Given the description of an element on the screen output the (x, y) to click on. 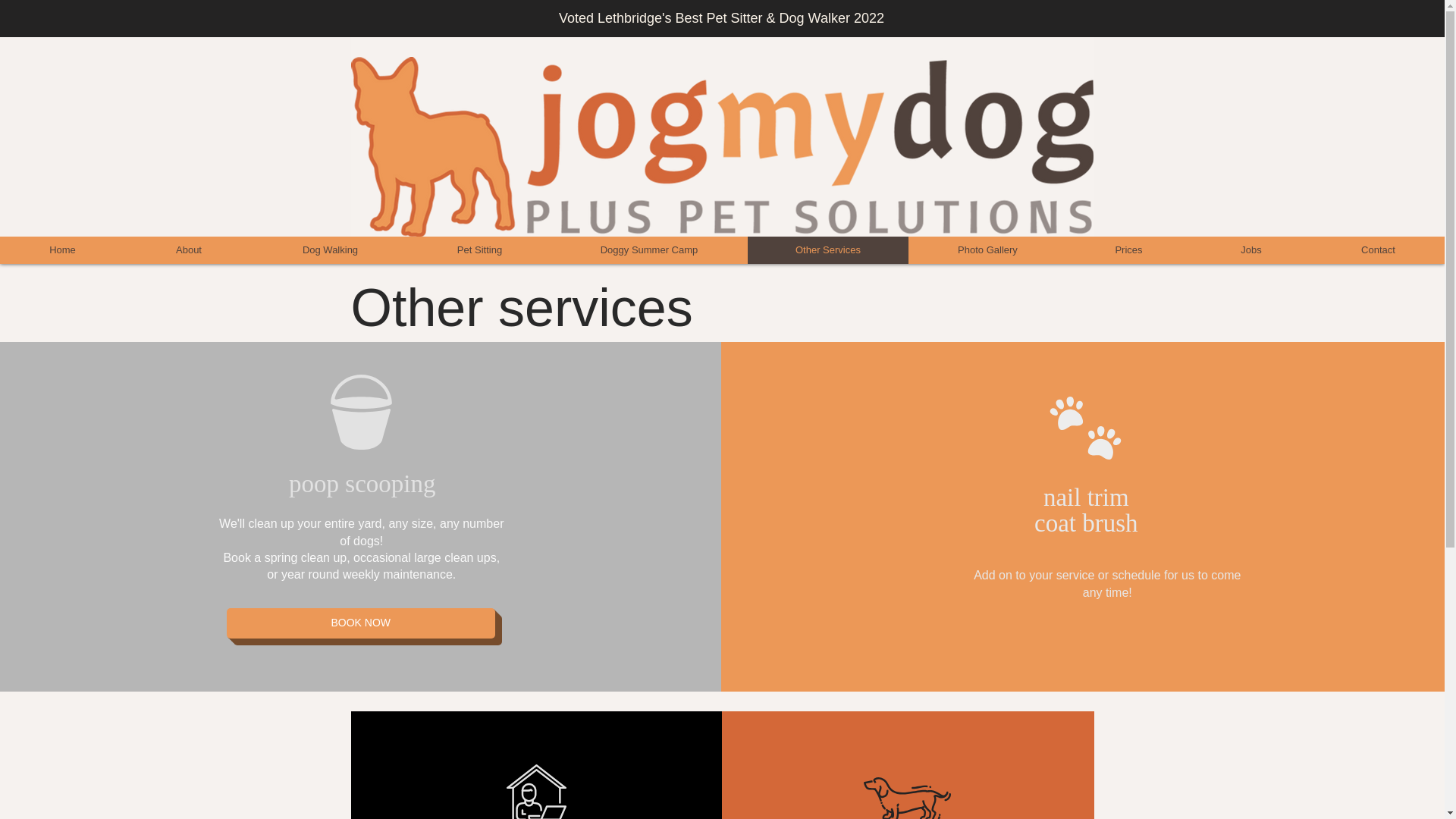
Jobs (1251, 249)
About (188, 249)
Home (62, 249)
Pet Sitting (478, 249)
Photo Gallery (986, 249)
Other Services (827, 249)
BOOK NOW (361, 623)
Dog Walking (329, 249)
Doggy Summer Camp (648, 249)
Prices (1128, 249)
